Given the description of an element on the screen output the (x, y) to click on. 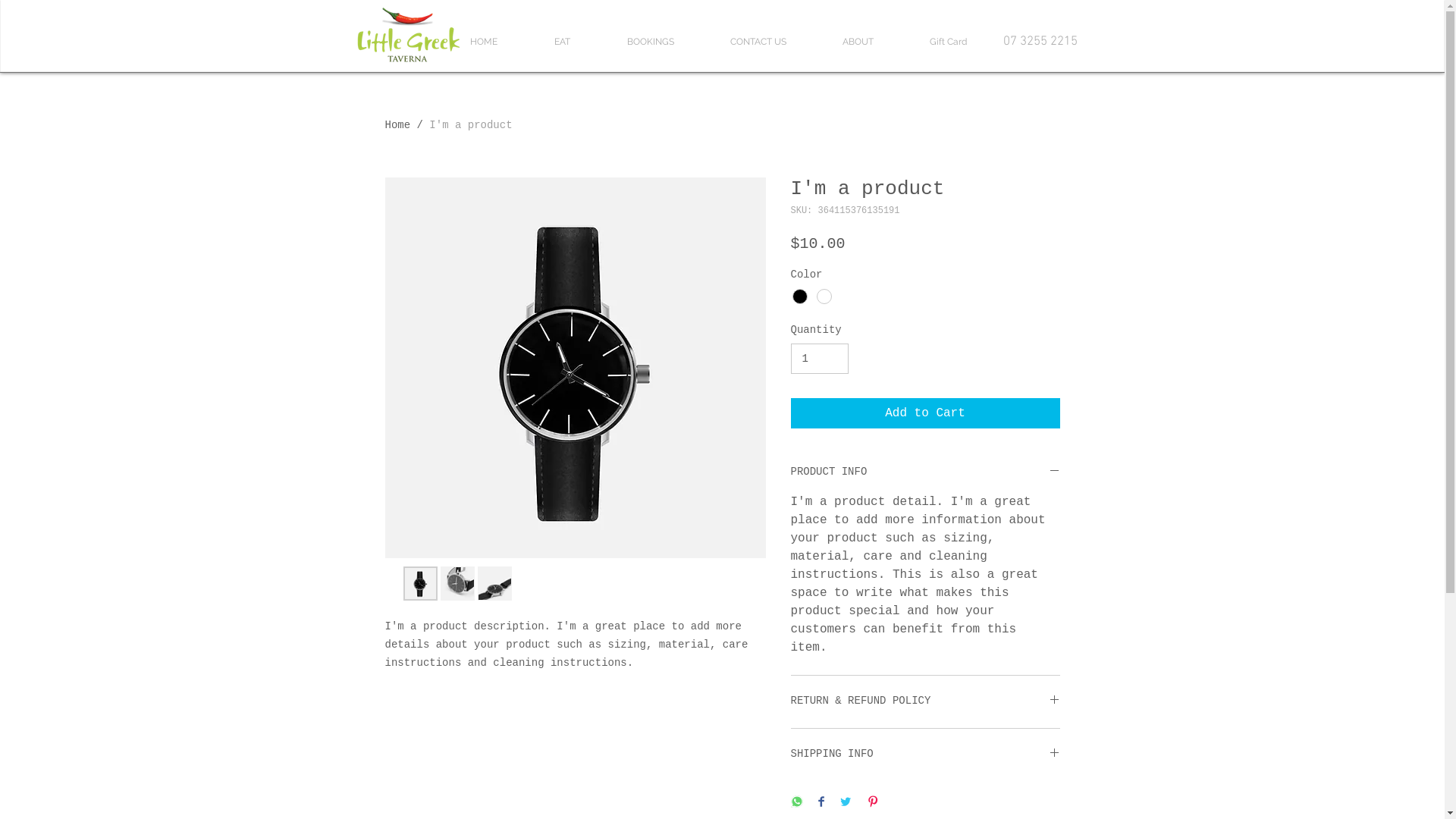
EAT Element type: text (562, 41)
PRODUCT INFO Element type: text (924, 472)
BOOKINGS Element type: text (650, 41)
I'm a product Element type: text (470, 125)
Gift Card Element type: text (947, 41)
Home Element type: text (398, 125)
HOME Element type: text (483, 41)
CONTACT US Element type: text (758, 41)
RETURN & REFUND POLICY Element type: text (924, 701)
SHIPPING INFO Element type: text (924, 754)
ABOUT Element type: text (857, 41)
Add to Cart Element type: text (924, 413)
